Given the description of an element on the screen output the (x, y) to click on. 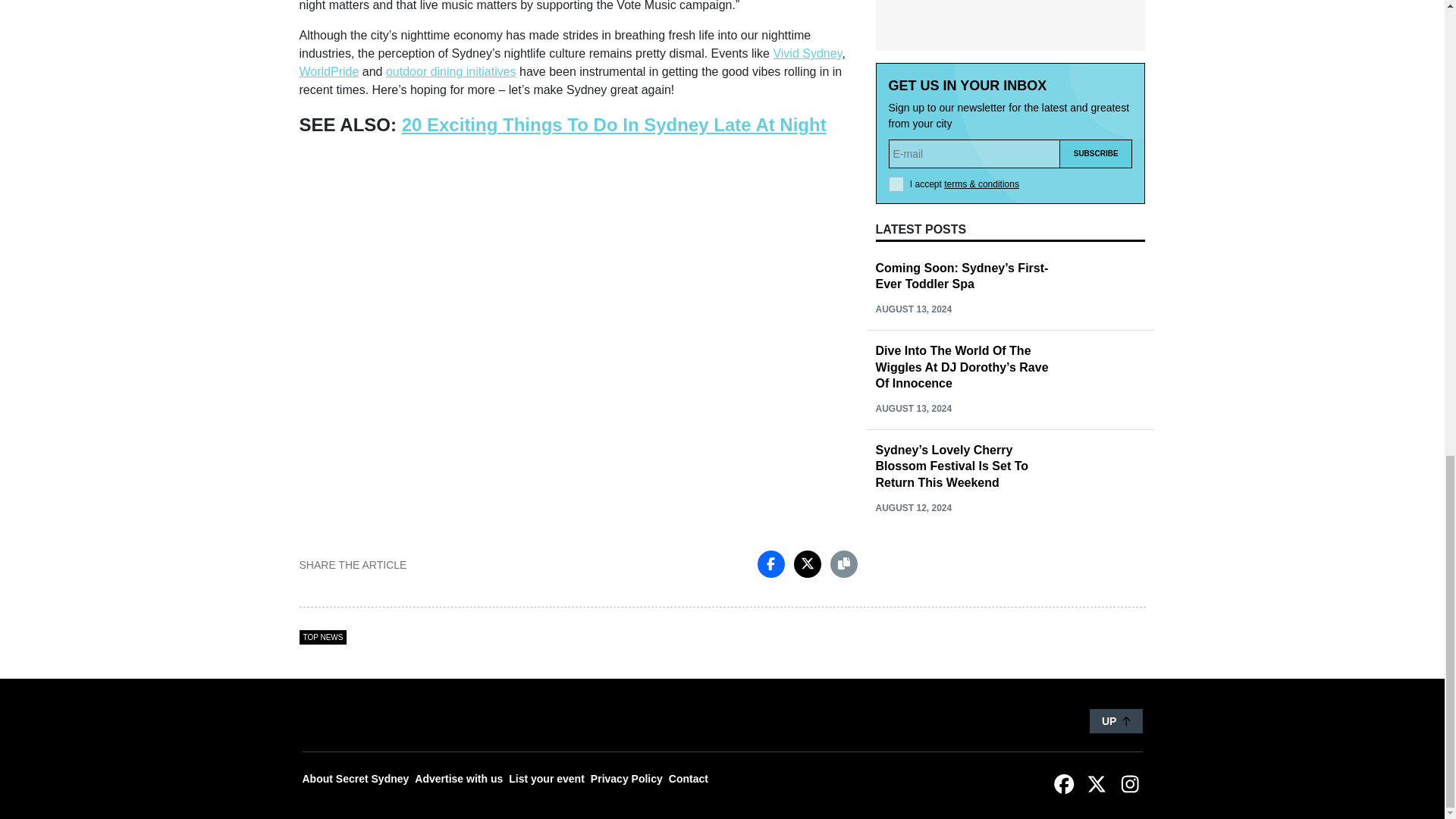
WorldPride (328, 71)
Vivid Sydney (807, 52)
1 (896, 183)
AUGUST 13, 2024 (913, 408)
AUGUST 13, 2024 (913, 308)
TOP NEWS (322, 636)
Subscribe (1095, 153)
20 Exciting Things To Do In Sydney Late At Night (614, 124)
outdoor dining initiatives (450, 71)
AUGUST 12, 2024 (913, 507)
